Given the description of an element on the screen output the (x, y) to click on. 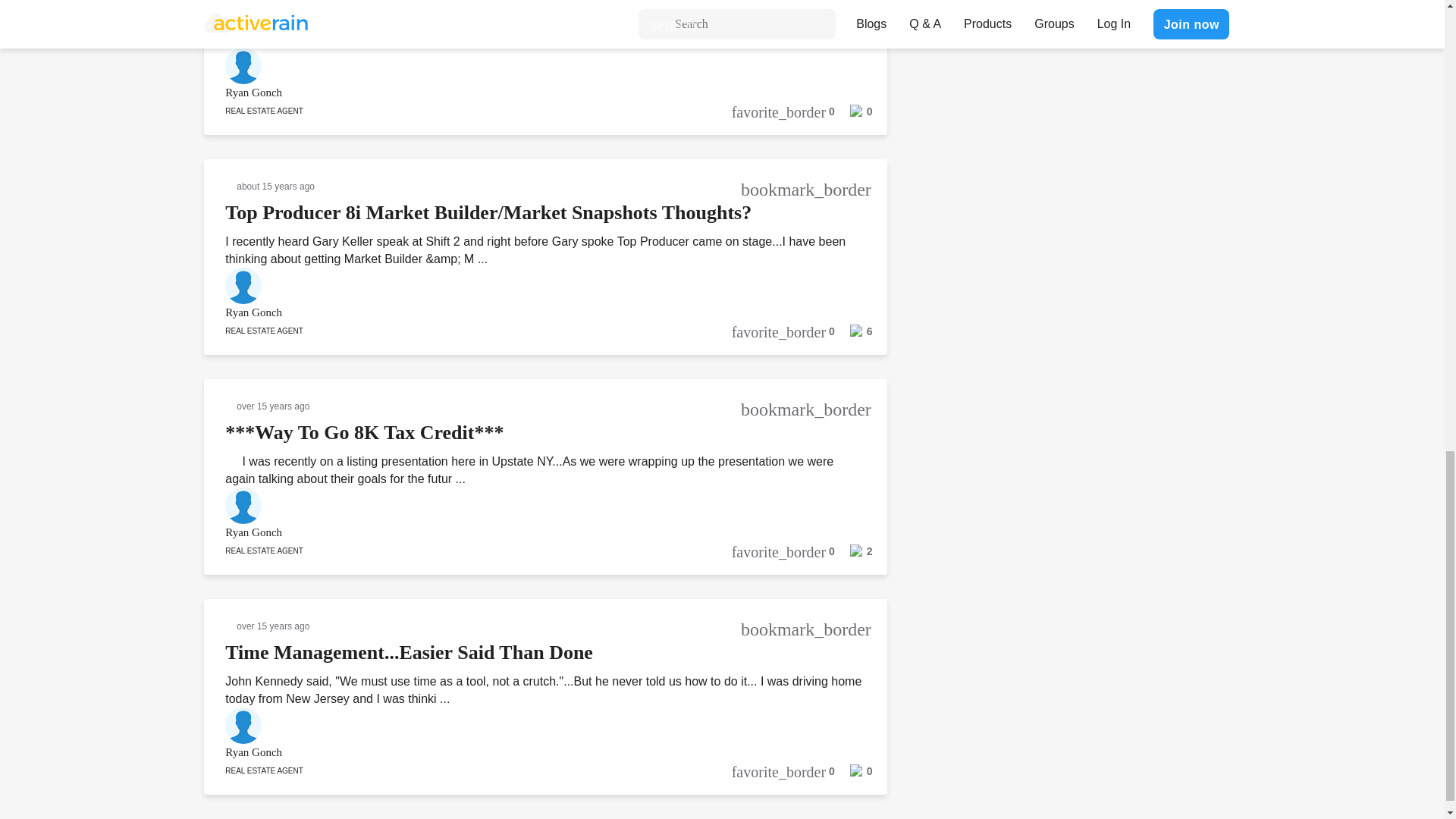
Ryan Gonch (525, 92)
0 (853, 115)
Ryan Gonch (525, 312)
6 (853, 336)
